Given the description of an element on the screen output the (x, y) to click on. 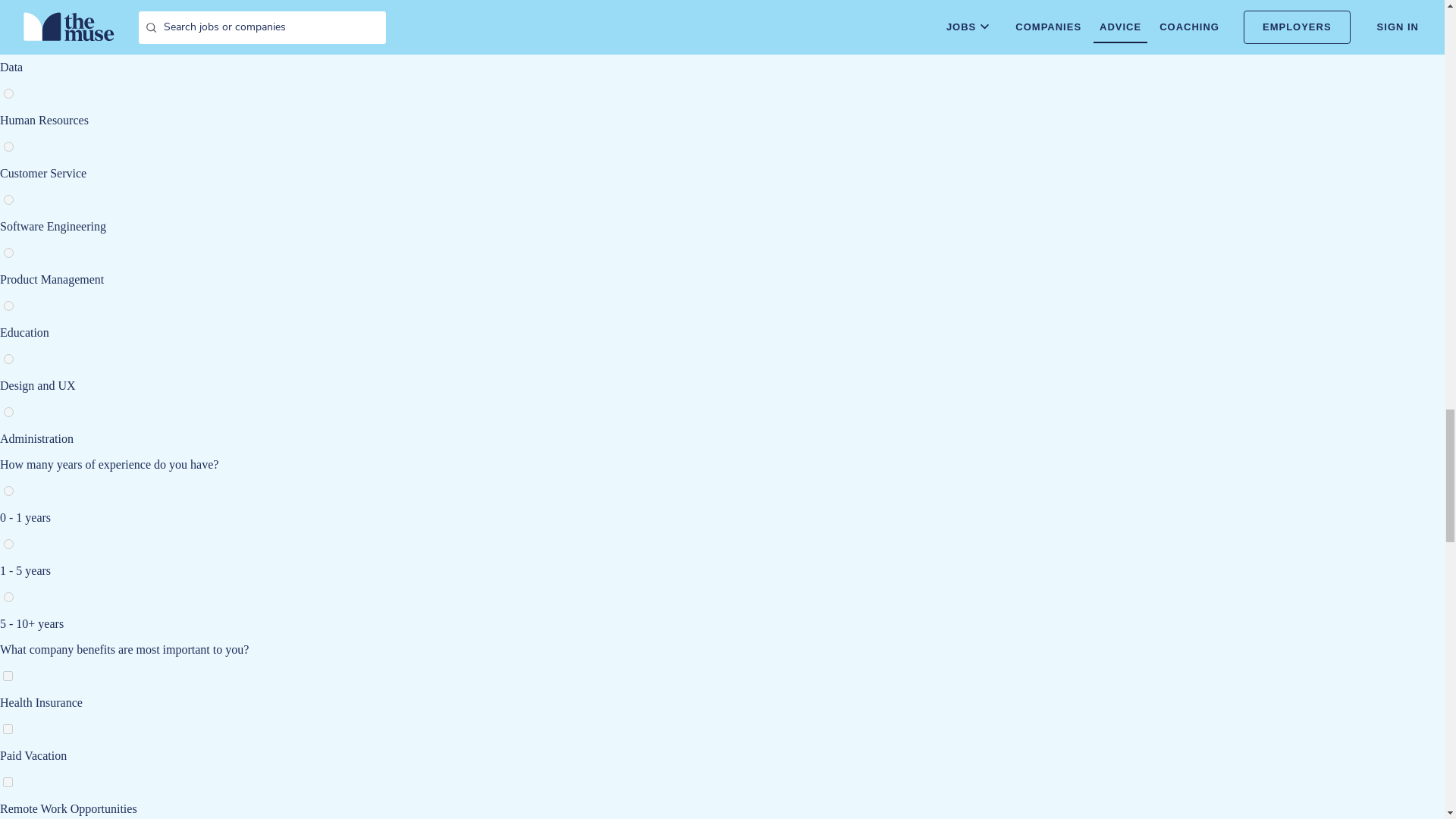
customer service (8, 146)
senior,executive (8, 596)
software engineering (8, 199)
product management (8, 252)
administration (8, 411)
human resources (8, 93)
mid (8, 543)
entry (8, 491)
education (8, 306)
design and ux (8, 358)
data (8, 40)
